Given the description of an element on the screen output the (x, y) to click on. 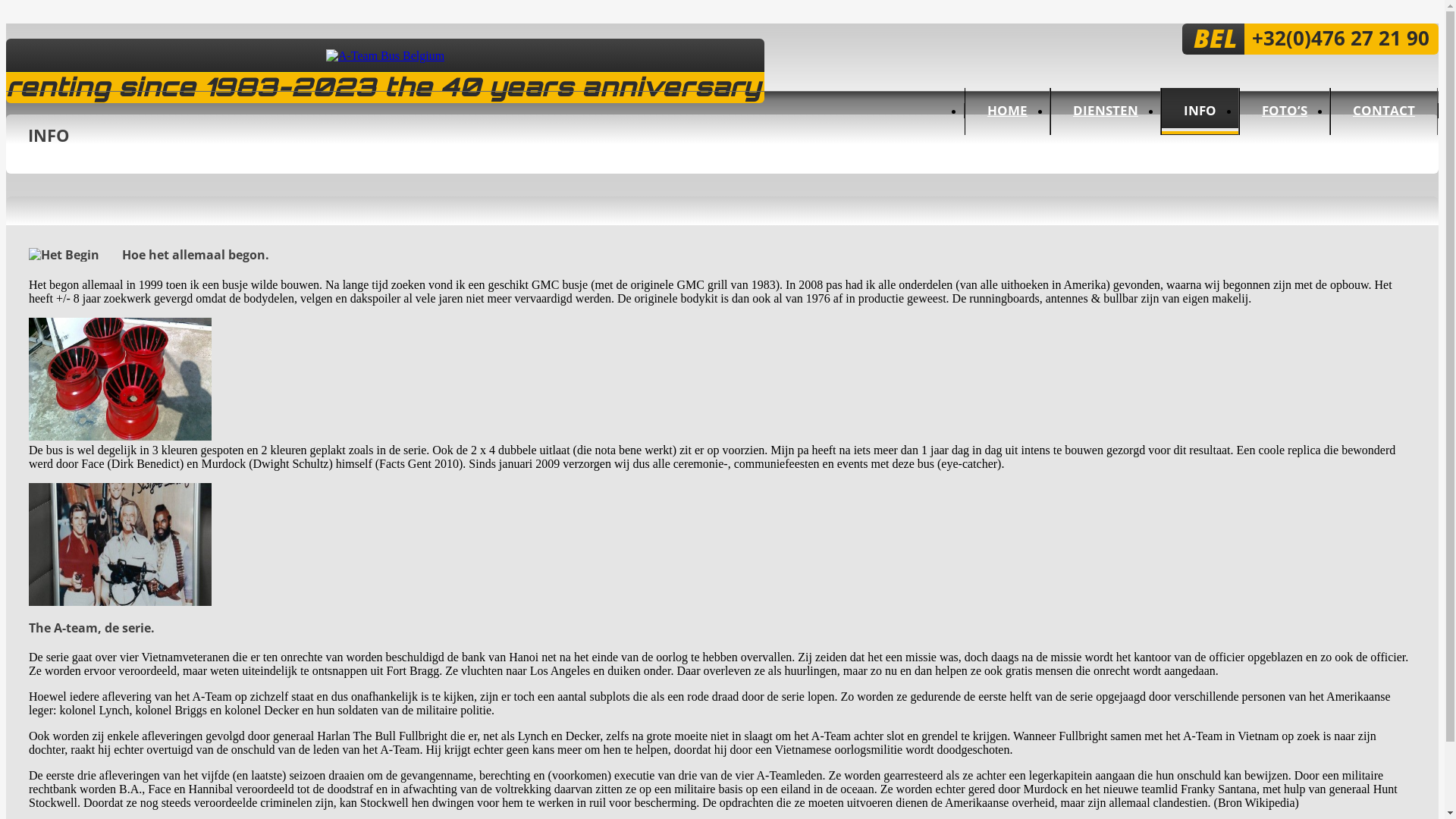
DIENSTEN Element type: text (1105, 110)
INFO Element type: text (1200, 110)
renting since 1983-2023  the 40 years anniversary Element type: hover (385, 55)
CONTACT Element type: text (1383, 110)
HOME Element type: text (1007, 110)
